Given the description of an element on the screen output the (x, y) to click on. 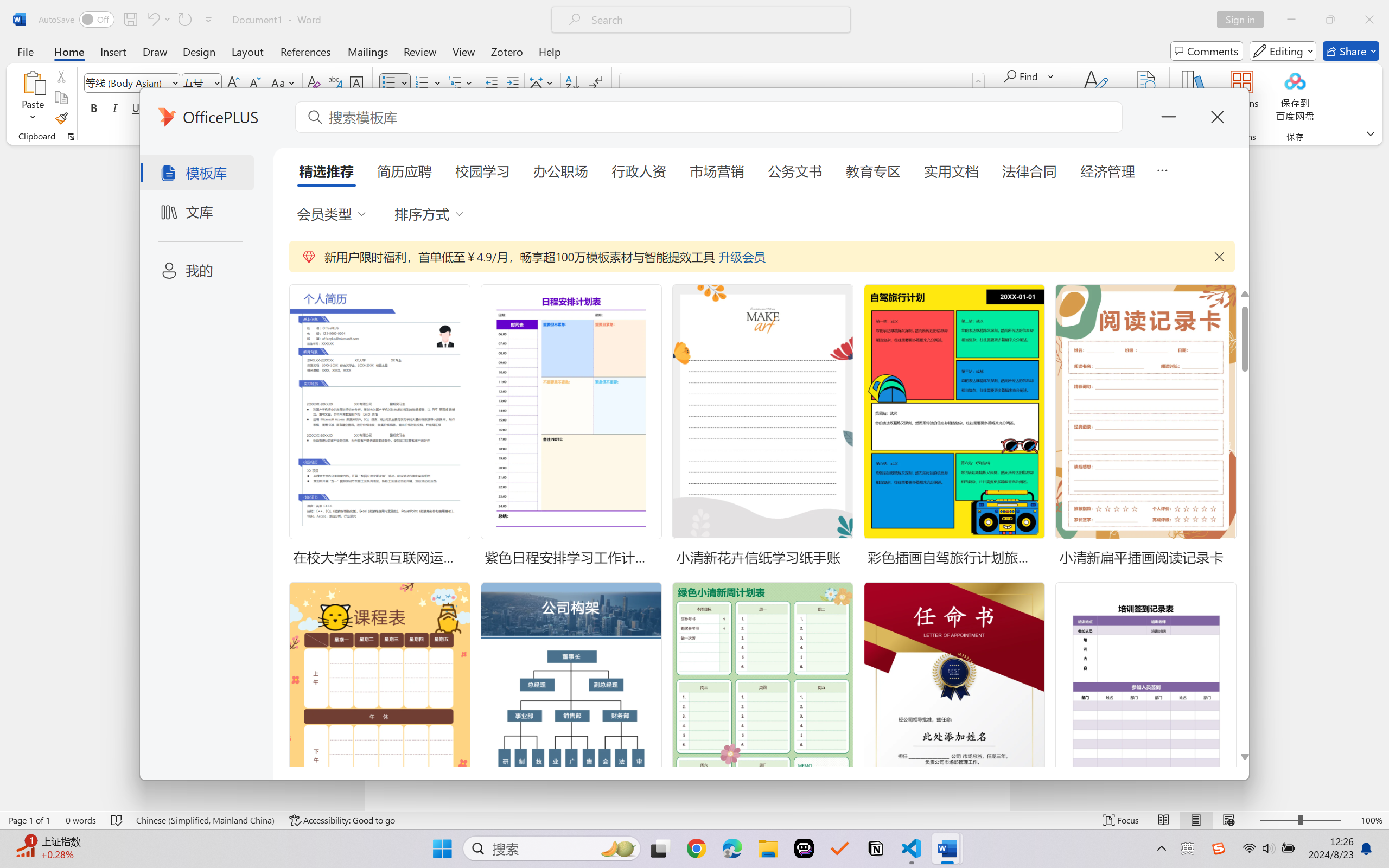
Undo Bullet Default (158, 19)
Zoom 100% (1372, 819)
Repeat Bullet Default (184, 19)
